Given the description of an element on the screen output the (x, y) to click on. 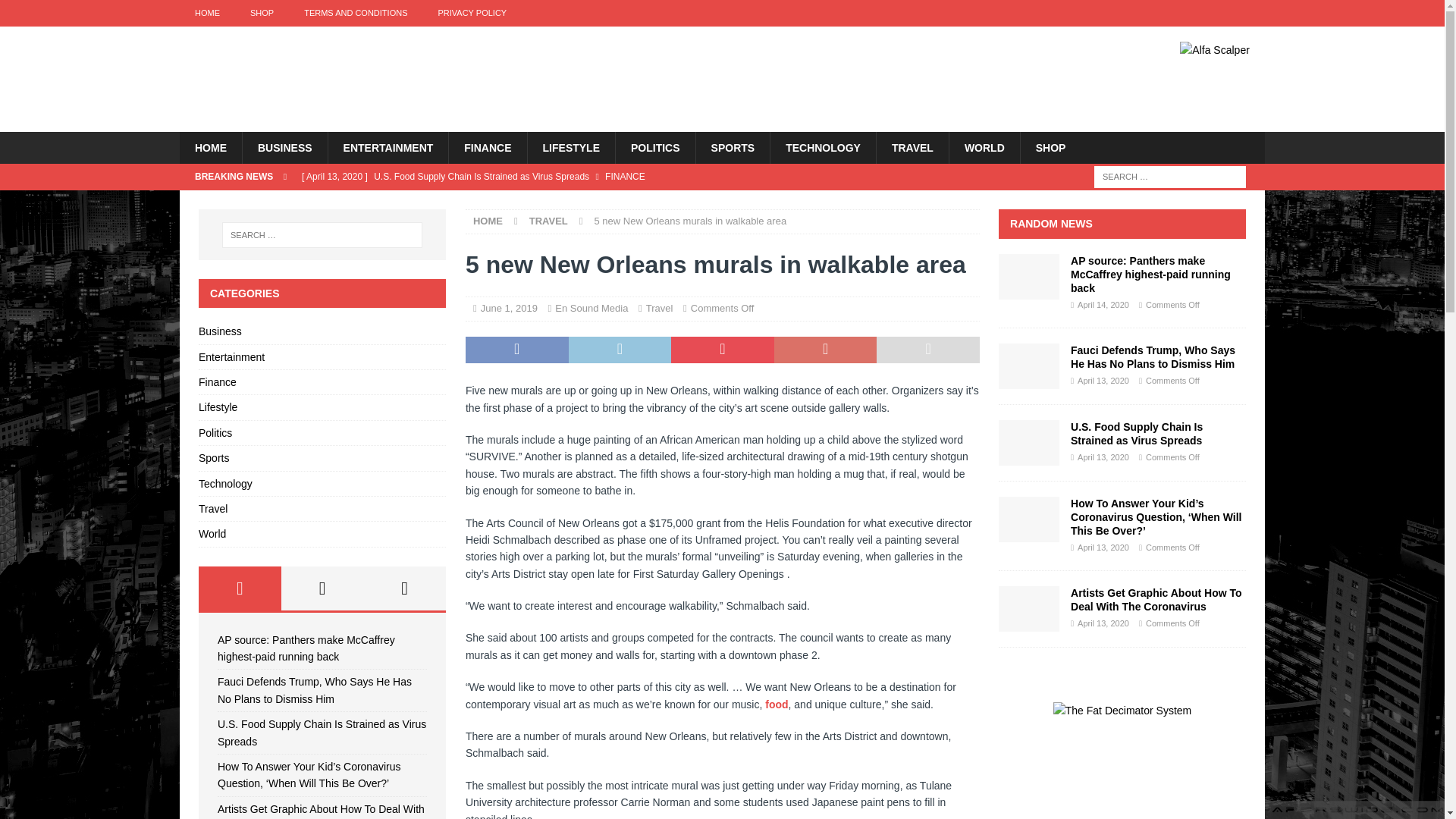
LIFESTYLE (570, 147)
HOME (206, 13)
WORLD (984, 147)
SPORTS (732, 147)
ENTERTAINMENT (387, 147)
FINANCE (486, 147)
SHOP (1050, 147)
TECHNOLOGY (823, 147)
SHOP (261, 13)
TRAVEL (912, 147)
TERMS AND CONDITIONS (355, 13)
POLITICS (654, 147)
PRIVACY POLICY (471, 13)
U.S. Food Supply Chain Is Strained as Virus Spreads (590, 176)
BUSINESS (284, 147)
